Given the description of an element on the screen output the (x, y) to click on. 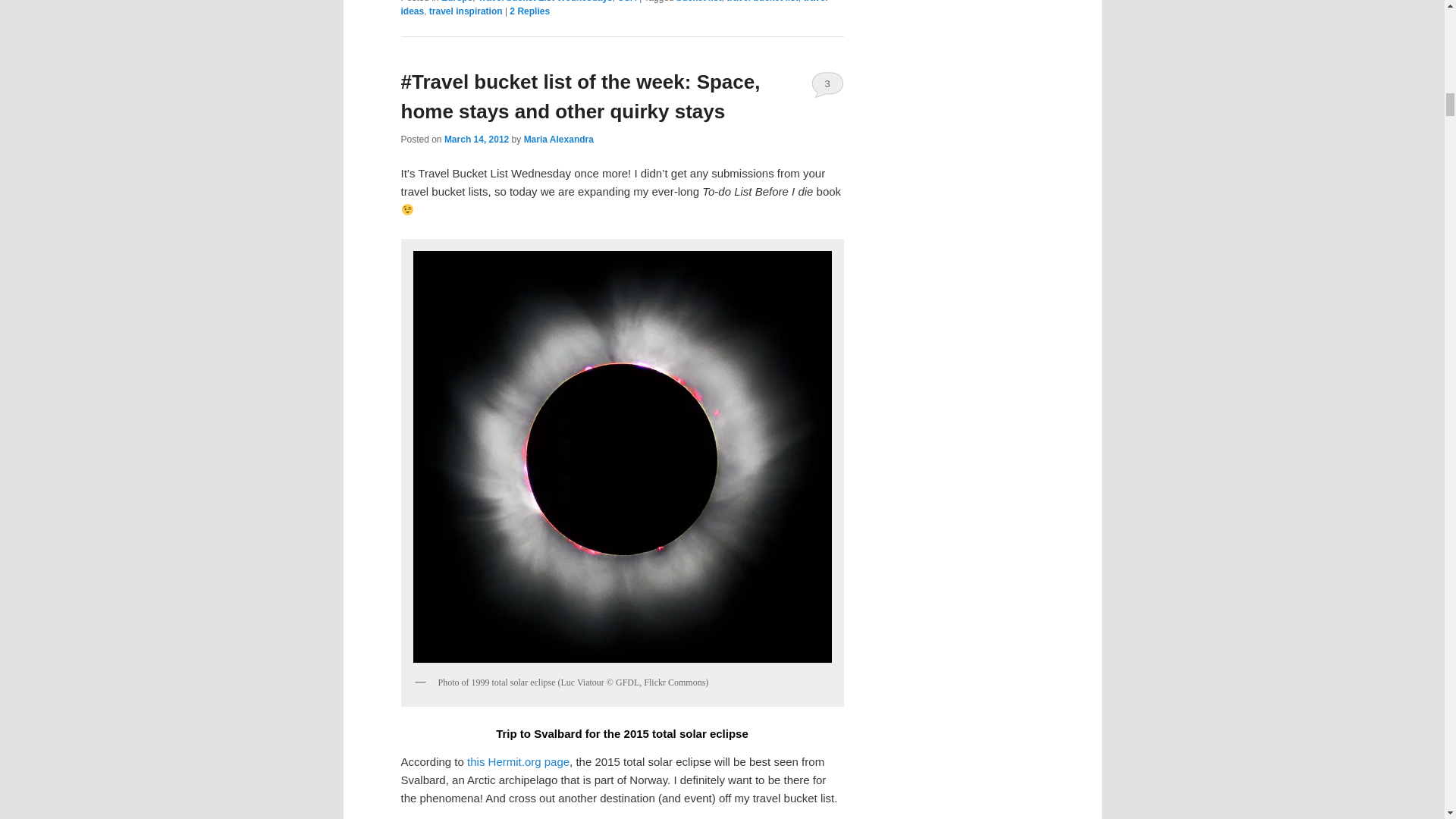
Total solar eclipse 2015 (518, 761)
10:01 PM (476, 139)
View all posts by Maria Alexandra (559, 139)
